Given the description of an element on the screen output the (x, y) to click on. 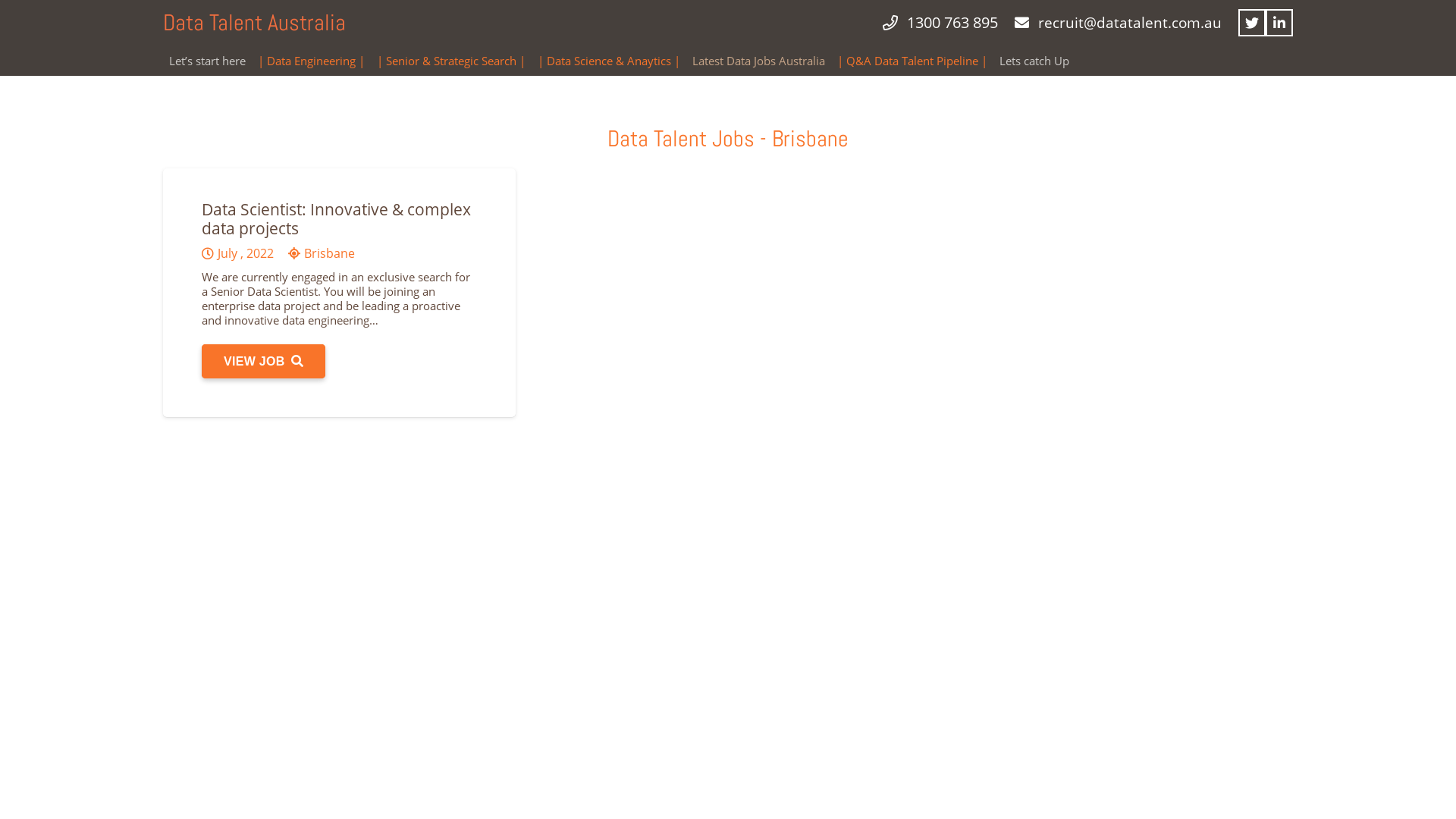
LinkedIn Element type: hover (1278, 22)
| Senior & Strategic Search | Element type: text (450, 60)
| Data Science & Anaytics | Element type: text (608, 60)
| Q&A Data Talent Pipeline | Element type: text (912, 60)
VIEW JOB Element type: text (263, 361)
Lets catch Up Element type: text (1034, 60)
Data Scientist: Innovative & complex data projects Element type: text (335, 218)
| Data Engineering | Element type: text (310, 60)
Twitter Element type: hover (1251, 22)
recruit@datatalent.com.au Element type: text (1117, 22)
Latest Data Jobs Australia Element type: text (758, 60)
